Given the description of an element on the screen output the (x, y) to click on. 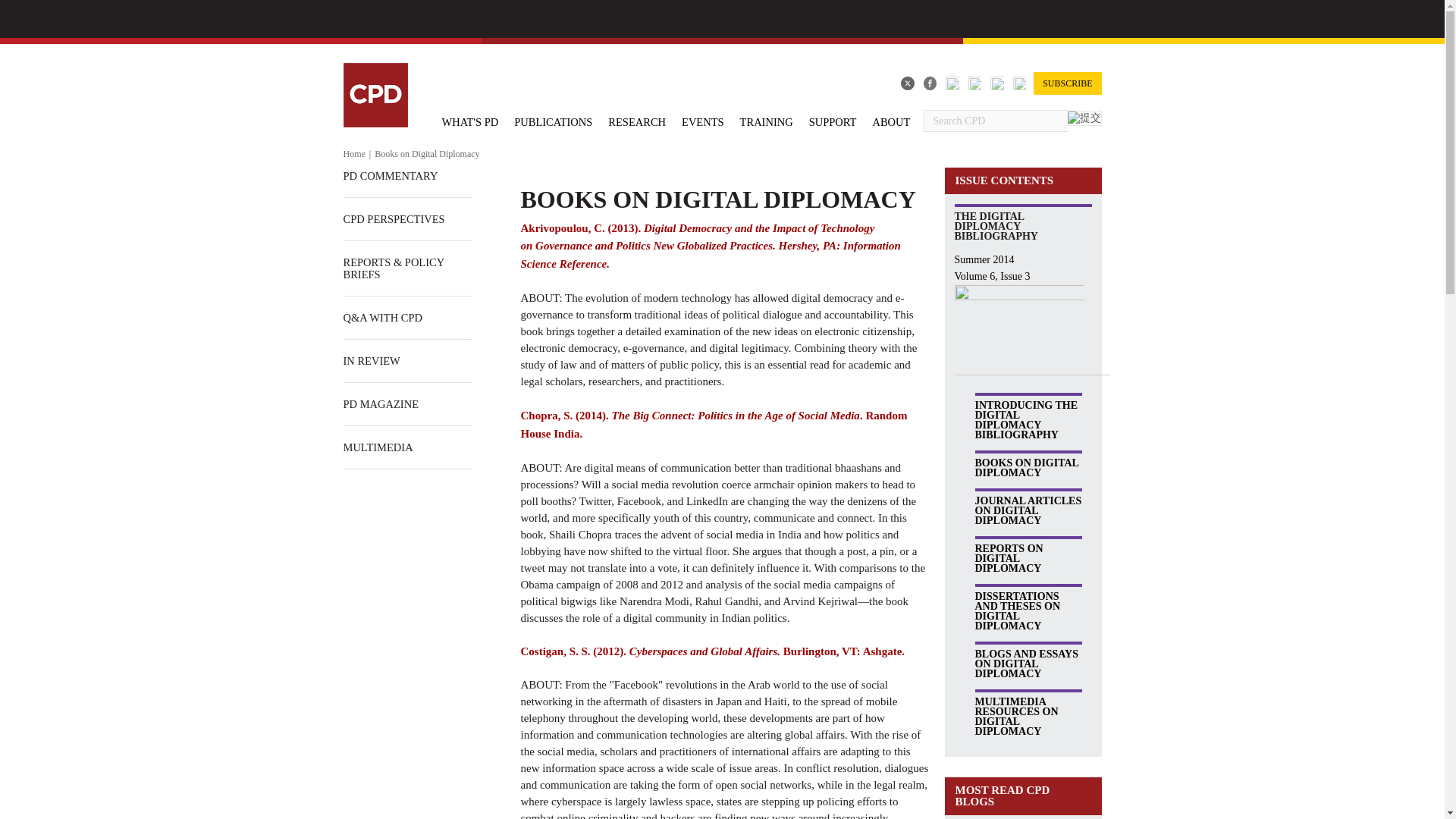
SUBSCRIBE (1066, 83)
CPD PERSPECTIVES (393, 219)
IN REVIEW (370, 360)
SUPPORT (833, 121)
PD MAGAZINE (379, 404)
WHAT'S PD (469, 121)
TRAINING (766, 121)
MULTIMEDIA (377, 446)
Home (353, 153)
ABOUT (890, 121)
